Given the description of an element on the screen output the (x, y) to click on. 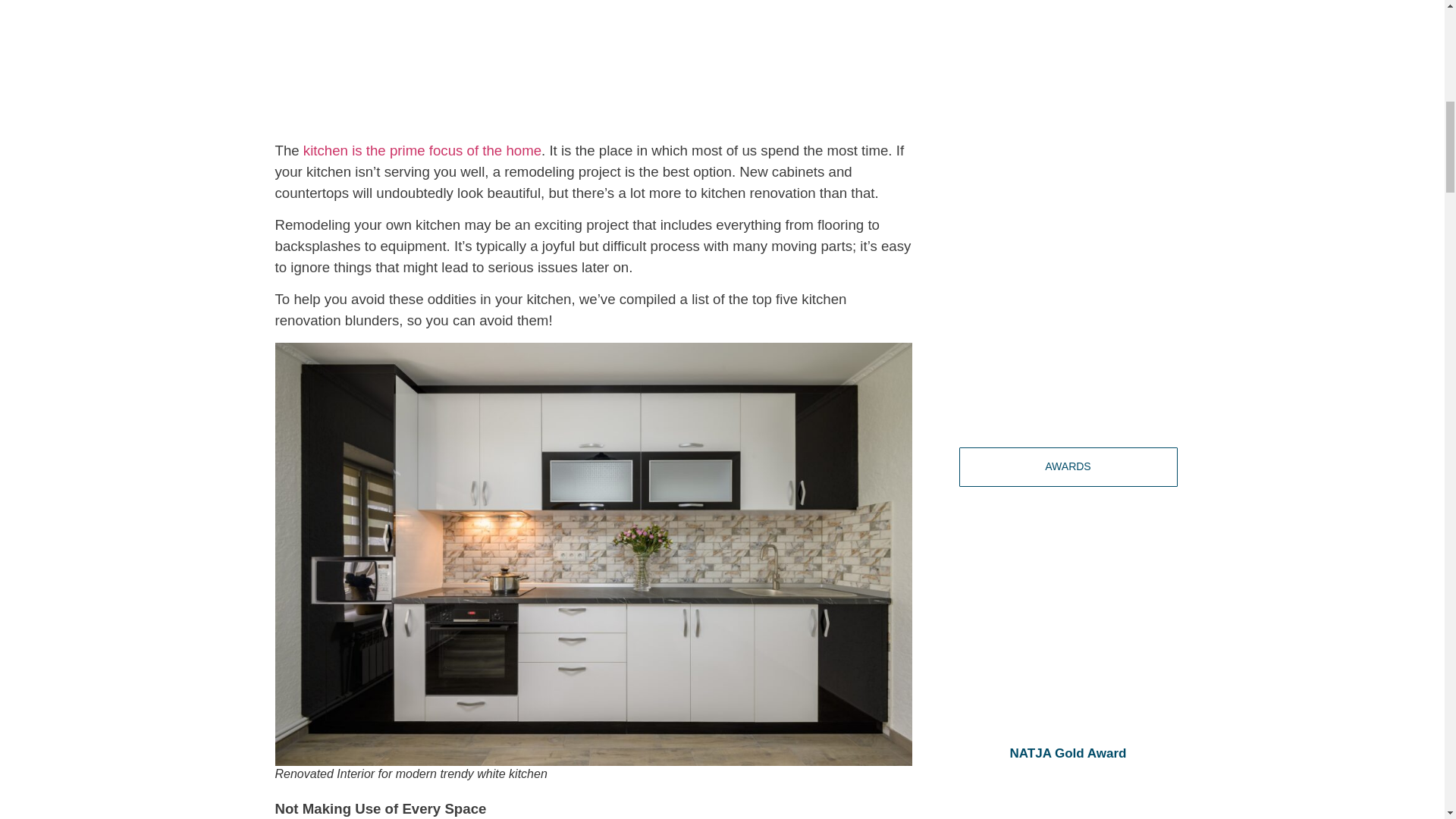
Advertisement (593, 62)
Advertisement (1067, 206)
